Given the description of an element on the screen output the (x, y) to click on. 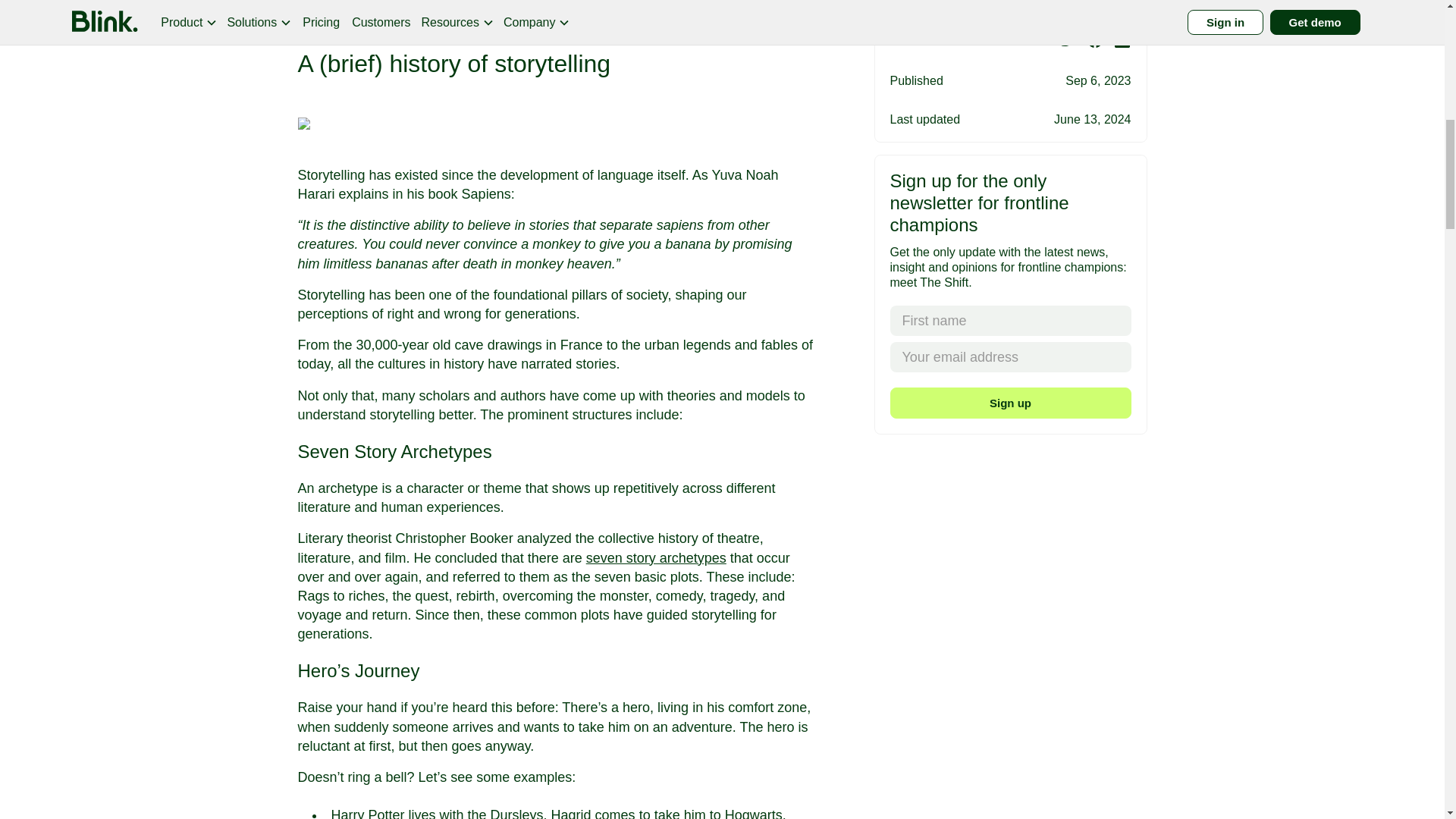
seven story archetypes (656, 557)
Sign up (1010, 22)
